Given the description of an element on the screen output the (x, y) to click on. 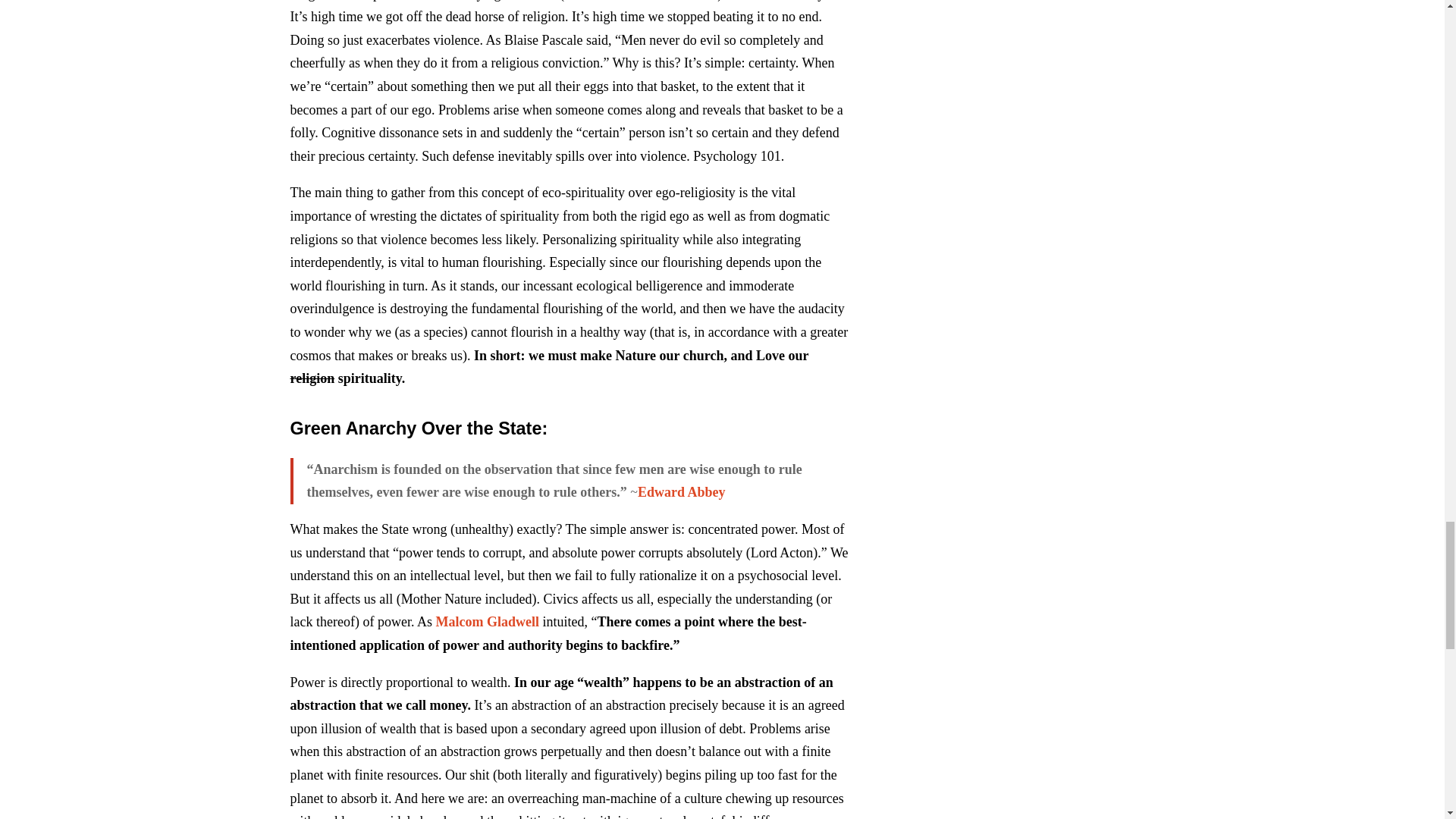
Edward Abbey (681, 491)
Malcom Gladwell (486, 621)
